Given the description of an element on the screen output the (x, y) to click on. 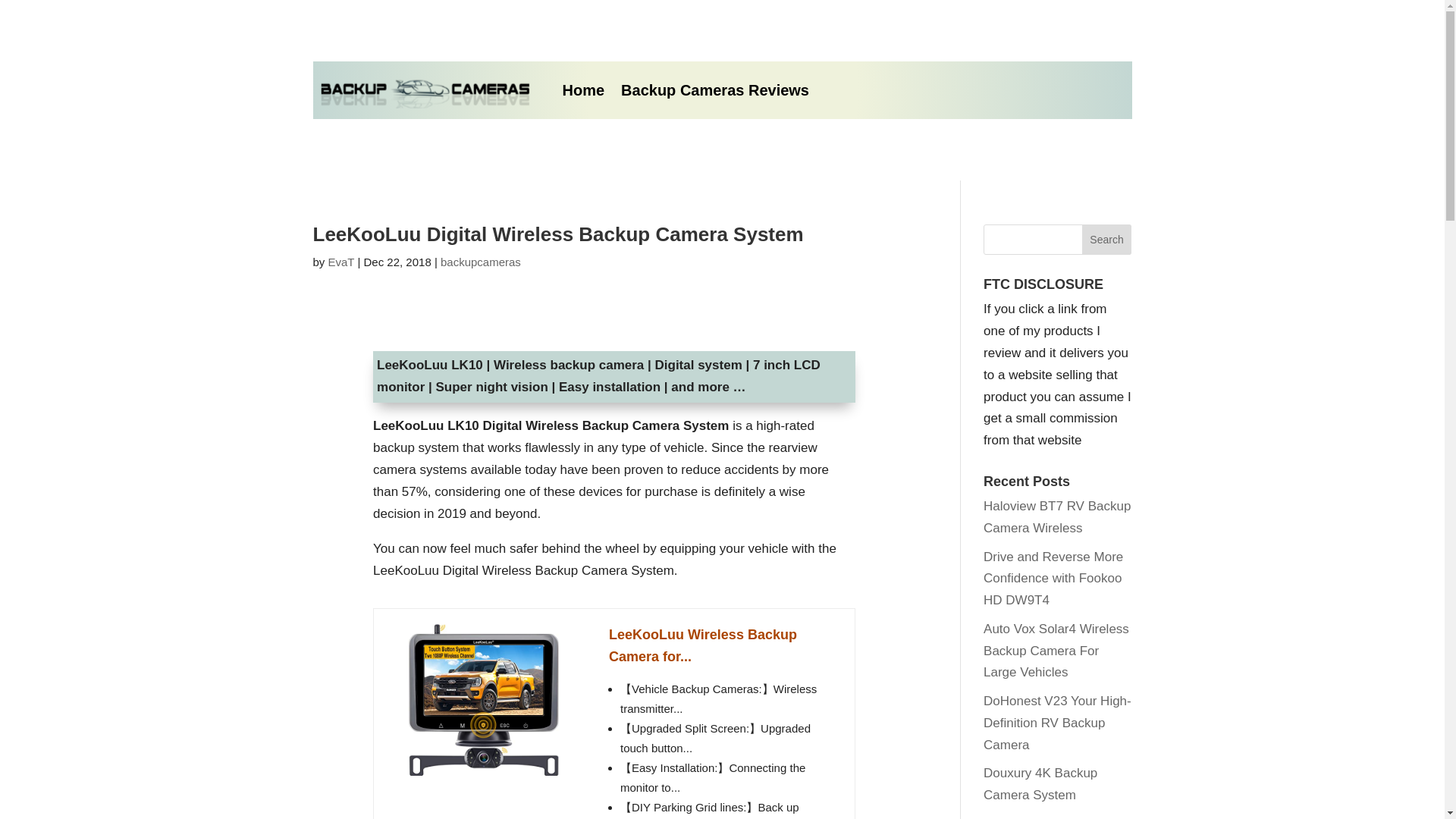
LeeKooLuu Wireless Backup Camera for... (483, 699)
Drive and Reverse More Confidence with Fookoo HD DW9T4 (1053, 578)
DoHonest V23 Your High-Definition RV Backup Camera (1057, 722)
Search (1106, 239)
backupcameras (481, 261)
EvaT (342, 261)
Douxury 4K Backup Camera System (1040, 783)
Posts by EvaT (342, 261)
Home (583, 89)
Auto Vox Solar4 Wireless Backup Camera For Large Vehicles (1056, 650)
Search (1106, 239)
Haloview BT7 RV Backup Camera Wireless (1057, 516)
LeeKooLuu Wireless Backup Camera for... (724, 646)
LeeKooLuu Digital Wireless Backup Camera System (558, 233)
LeeKooLuu Wireless Backup Camera for... (724, 646)
